Given the description of an element on the screen output the (x, y) to click on. 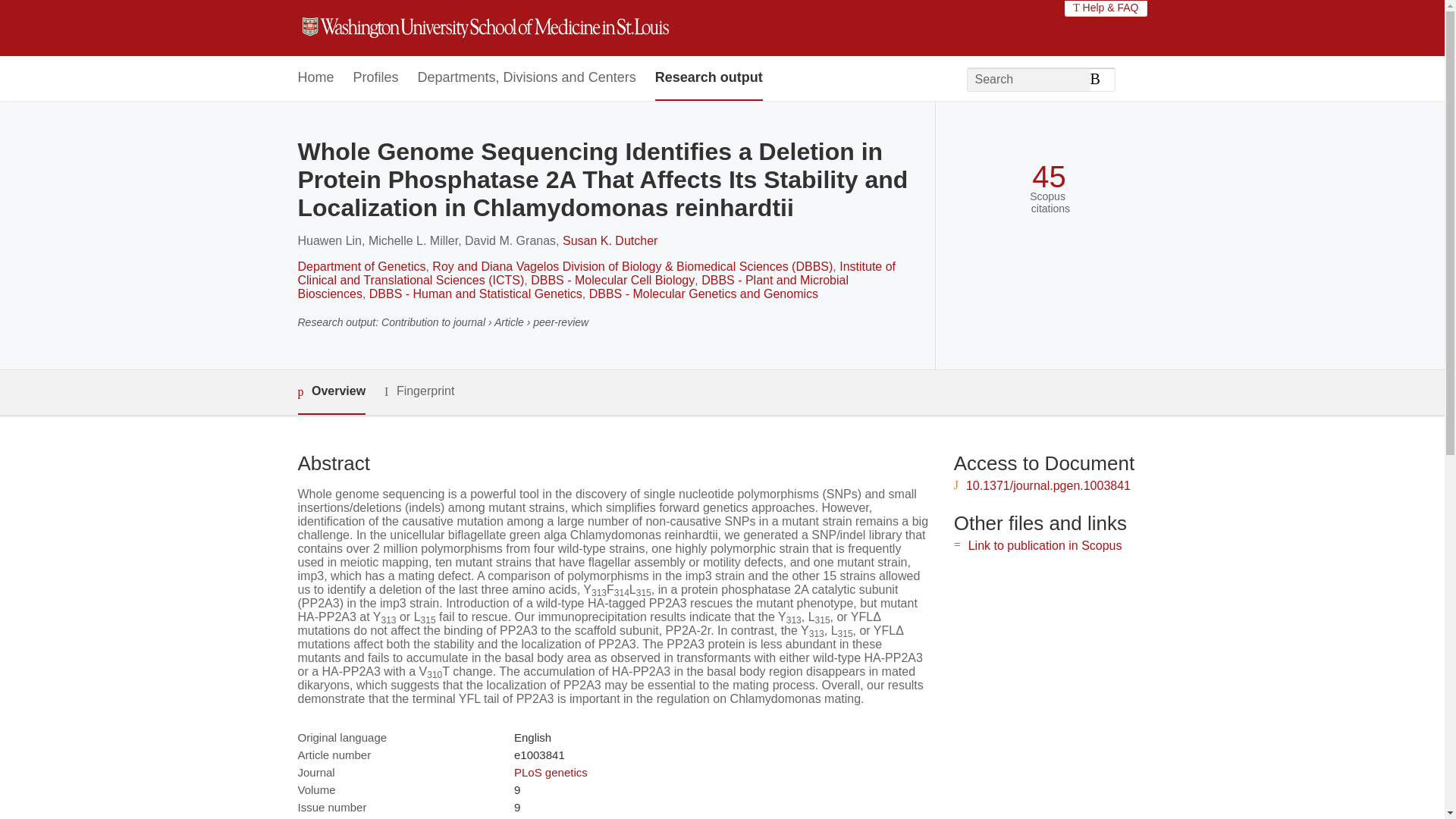
Profiles (375, 78)
Departments, Divisions and Centers (526, 78)
Fingerprint (419, 391)
PLoS genetics (550, 771)
DBBS - Molecular Cell Biology (612, 279)
Overview (331, 392)
Susan K. Dutcher (610, 240)
Department of Genetics (361, 266)
DBBS - Plant and Microbial Biosciences (572, 286)
45 (1048, 176)
DBBS - Human and Statistical Genetics (475, 293)
Link to publication in Scopus (1045, 545)
Research output (708, 78)
